Given the description of an element on the screen output the (x, y) to click on. 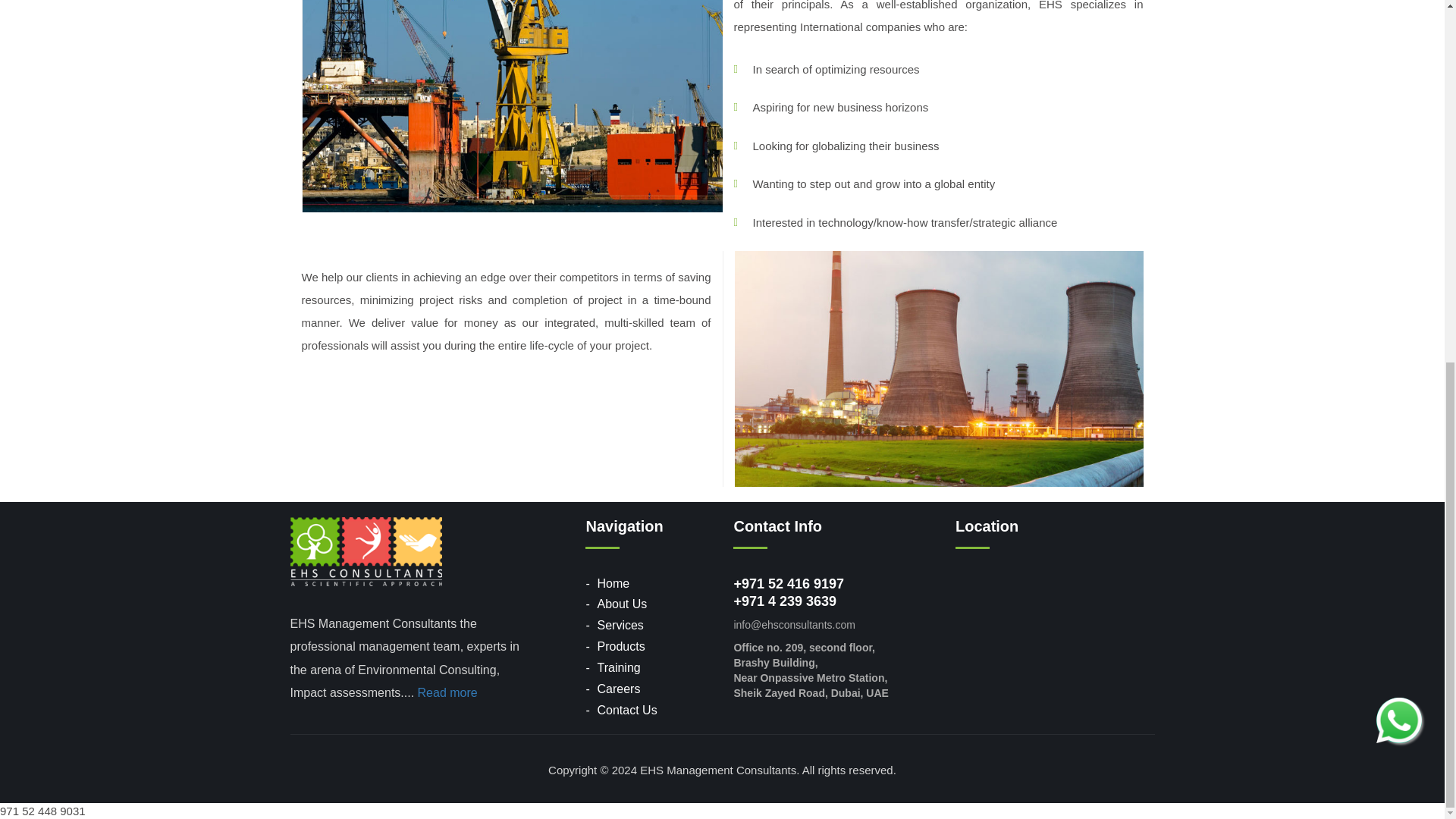
About Us (621, 603)
Read more (447, 692)
Home (612, 582)
Services (619, 625)
